Given the description of an element on the screen output the (x, y) to click on. 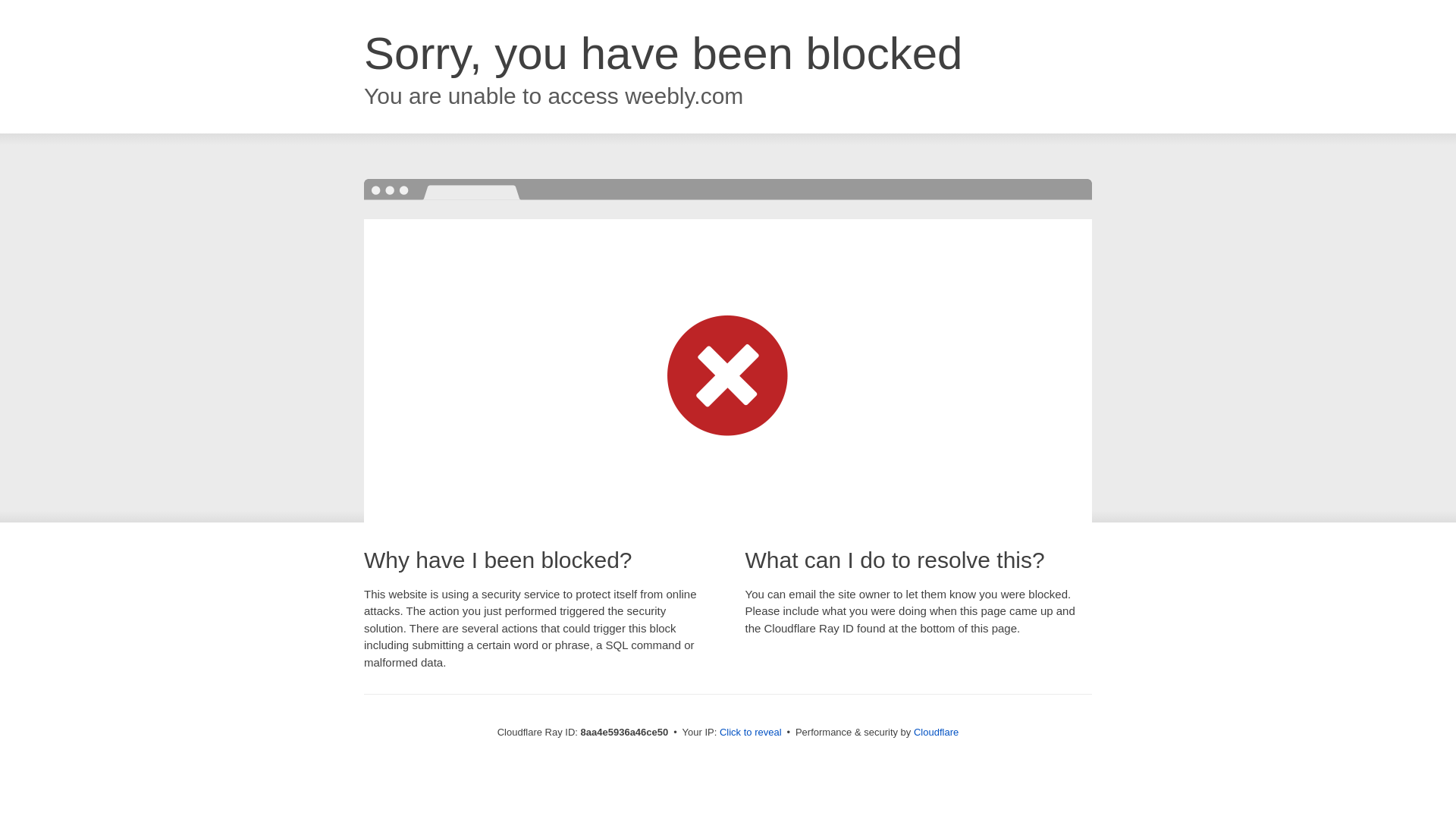
Click to reveal (750, 732)
Cloudflare (936, 731)
